Given the description of an element on the screen output the (x, y) to click on. 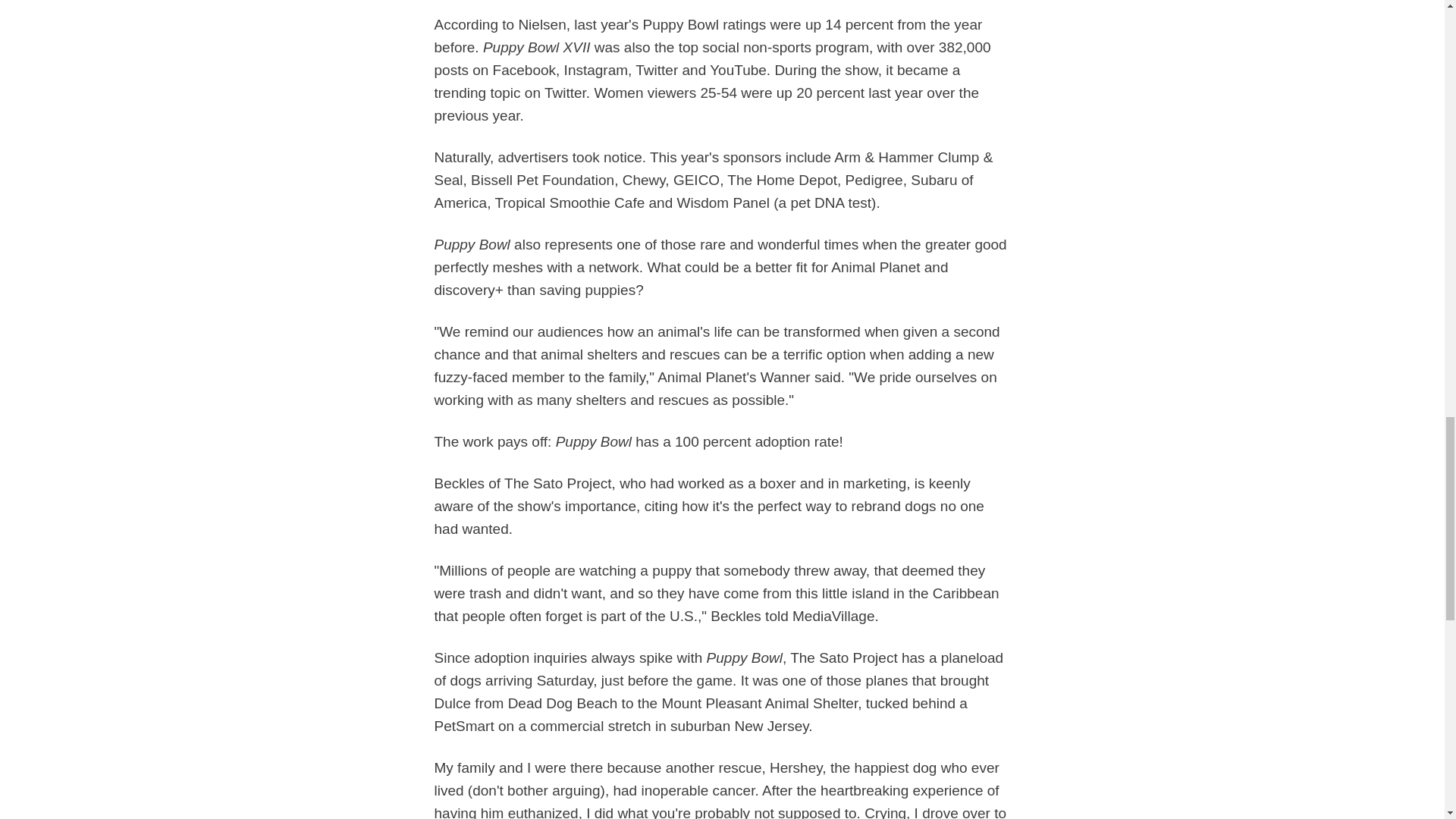
The Sato Project (844, 657)
